Given the description of an element on the screen output the (x, y) to click on. 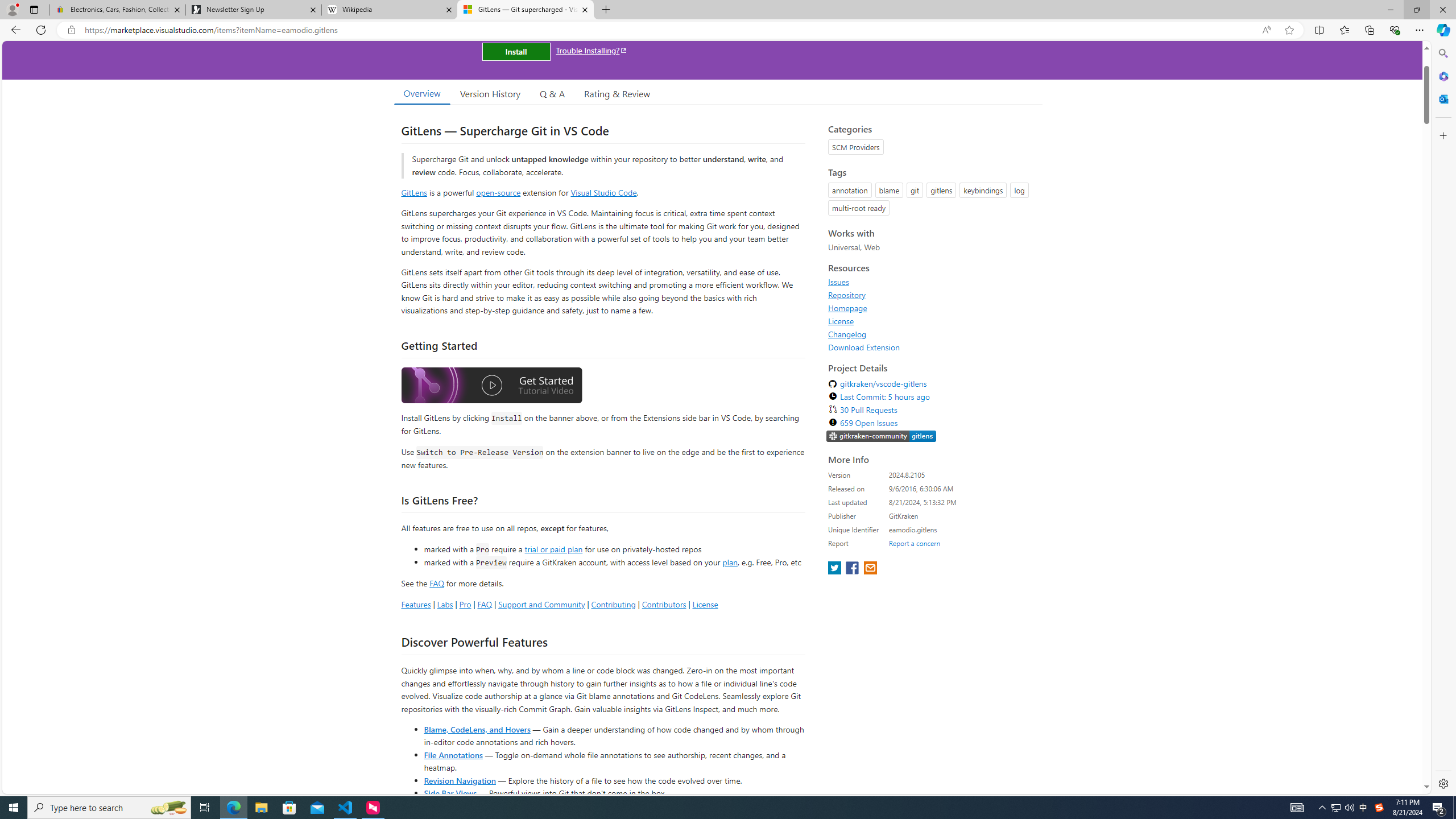
share extension on email (869, 568)
share extension on facebook (853, 568)
File Annotations (453, 754)
Electronics, Cars, Fashion, Collectibles & More | eBay (117, 9)
Contributing (613, 603)
License (931, 320)
Watch the GitLens Getting Started video (491, 385)
https://slack.gitkraken.com// (881, 436)
Watch the GitLens Getting Started video (491, 387)
